Given the description of an element on the screen output the (x, y) to click on. 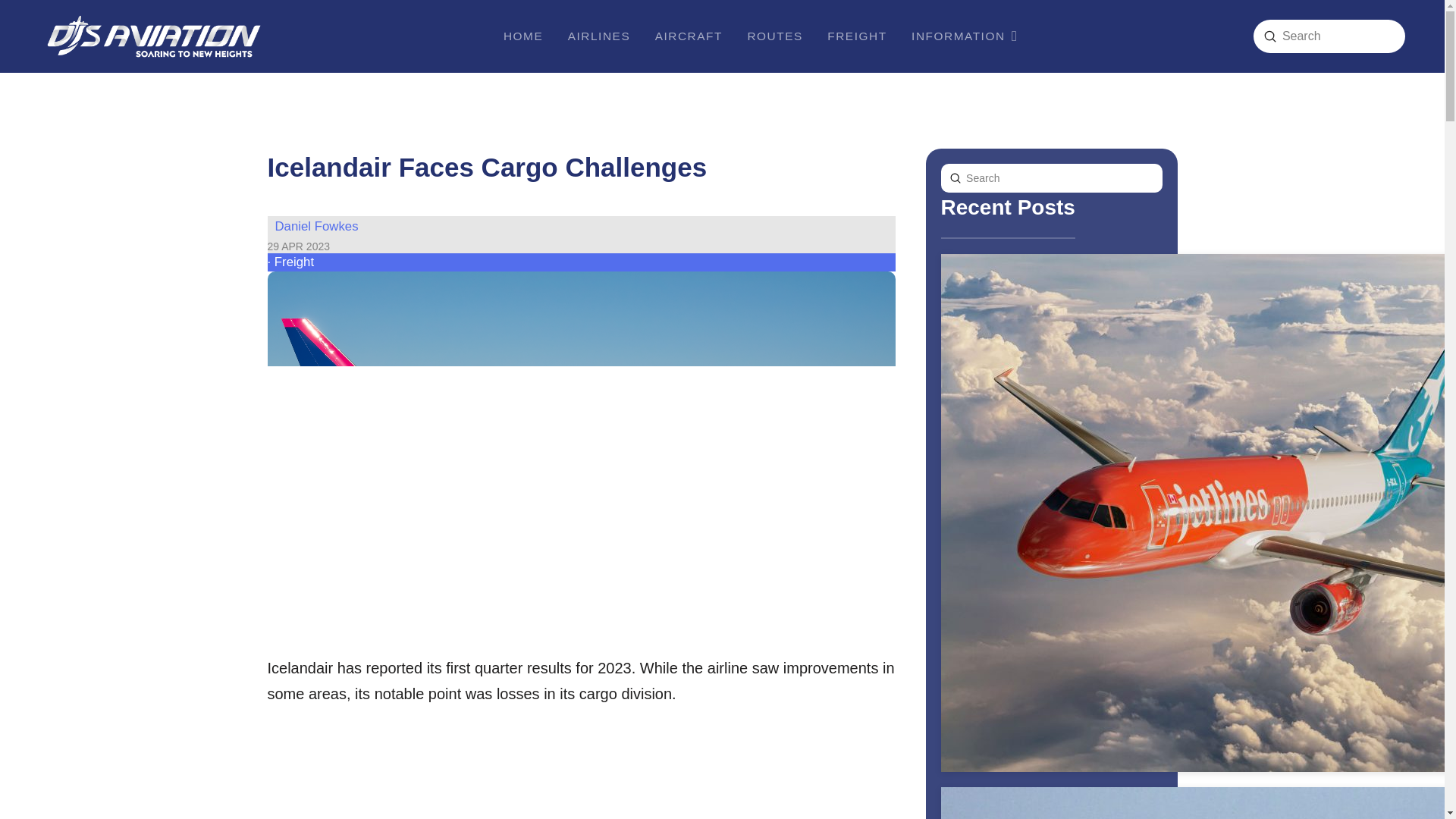
AIRCRAFT (1050, 803)
ROUTES (688, 36)
INFORMATION (773, 36)
AIRLINES (963, 36)
Submit (598, 36)
FREIGHT (1269, 36)
Submit (855, 36)
